Given the description of an element on the screen output the (x, y) to click on. 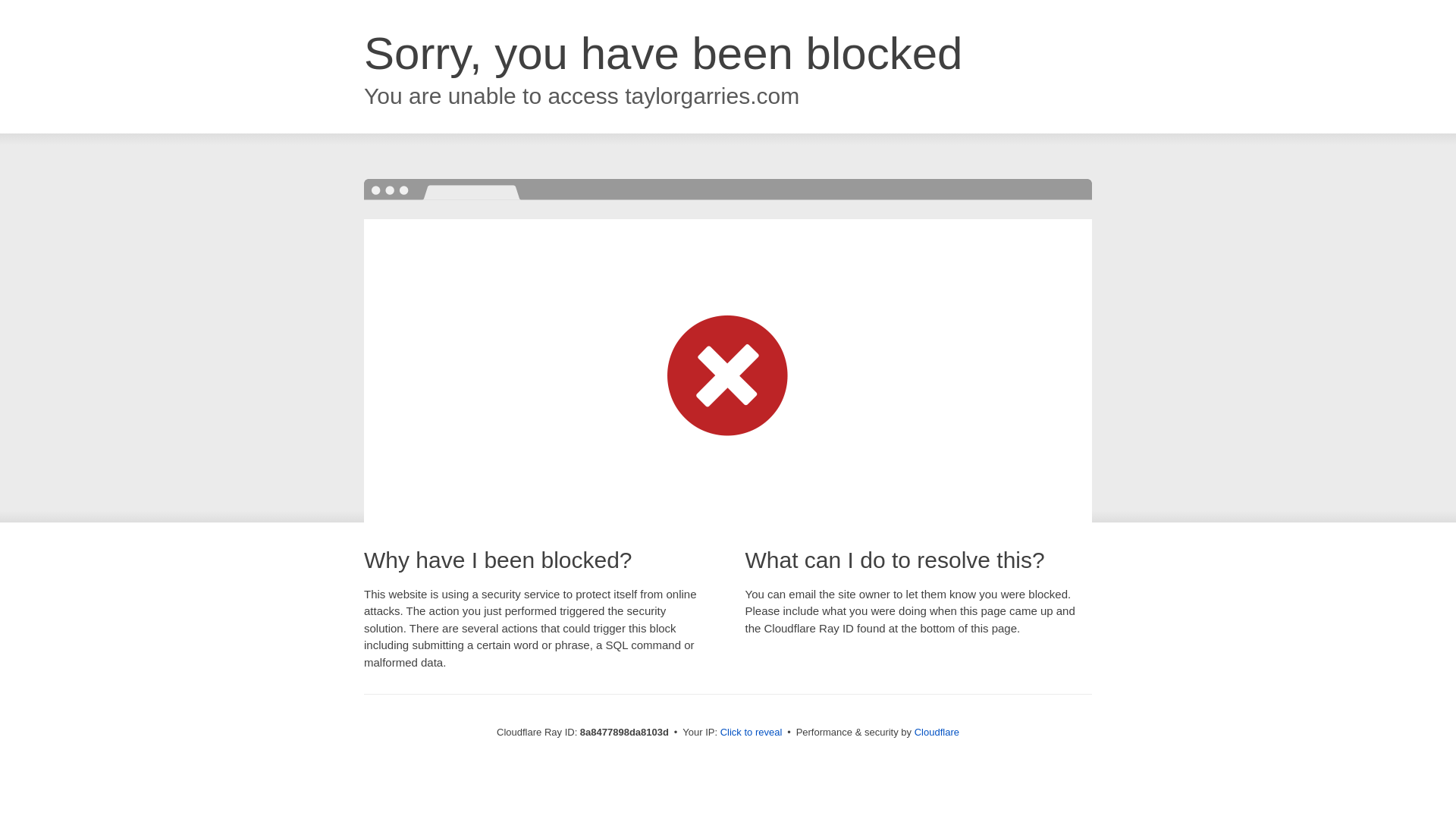
Cloudflare (936, 731)
Click to reveal (751, 732)
